Given the description of an element on the screen output the (x, y) to click on. 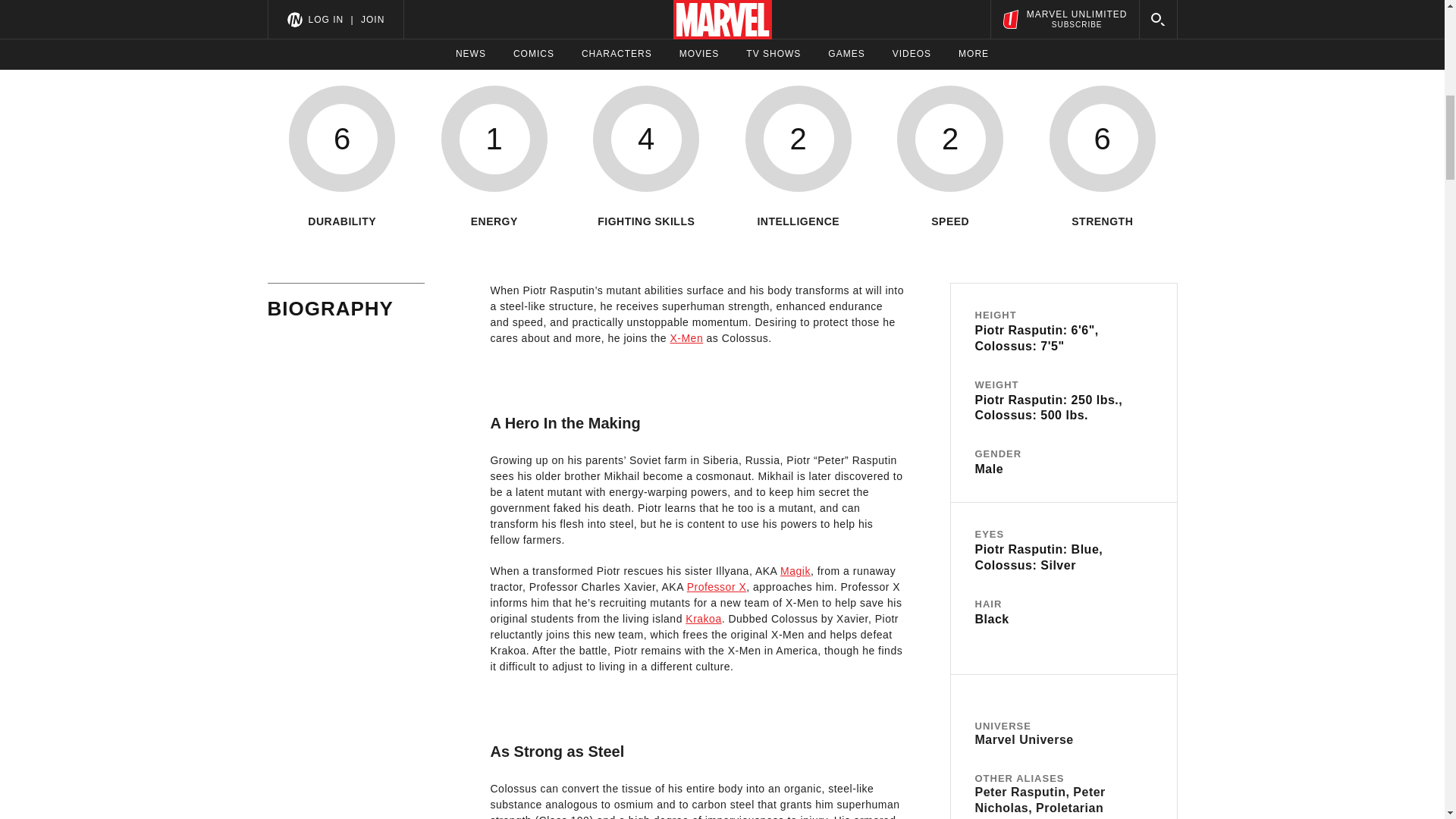
Krakoa (702, 618)
LOAD MORE (722, 28)
Magik (795, 571)
X-Men (686, 337)
Professor X (716, 586)
